Given the description of an element on the screen output the (x, y) to click on. 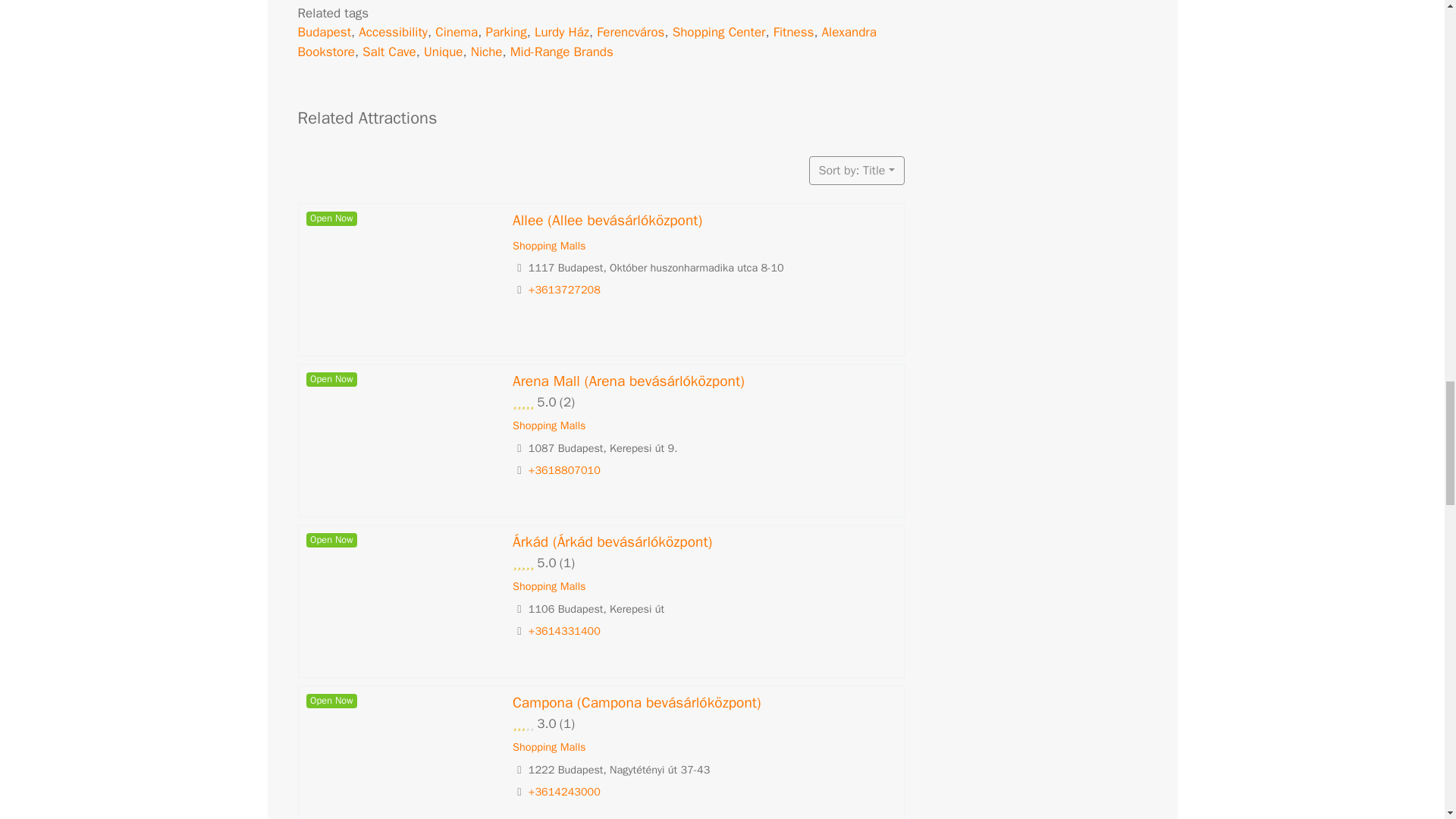
Salt Cave (389, 51)
Shopping Center (718, 32)
Fitness (793, 32)
Cinema (456, 32)
Alexandra Bookstore (586, 41)
Budapest (323, 32)
Accessibility (393, 32)
Niche (486, 51)
Parking (504, 32)
Mid-Range Brands (561, 51)
Unique (443, 51)
